Given the description of an element on the screen output the (x, y) to click on. 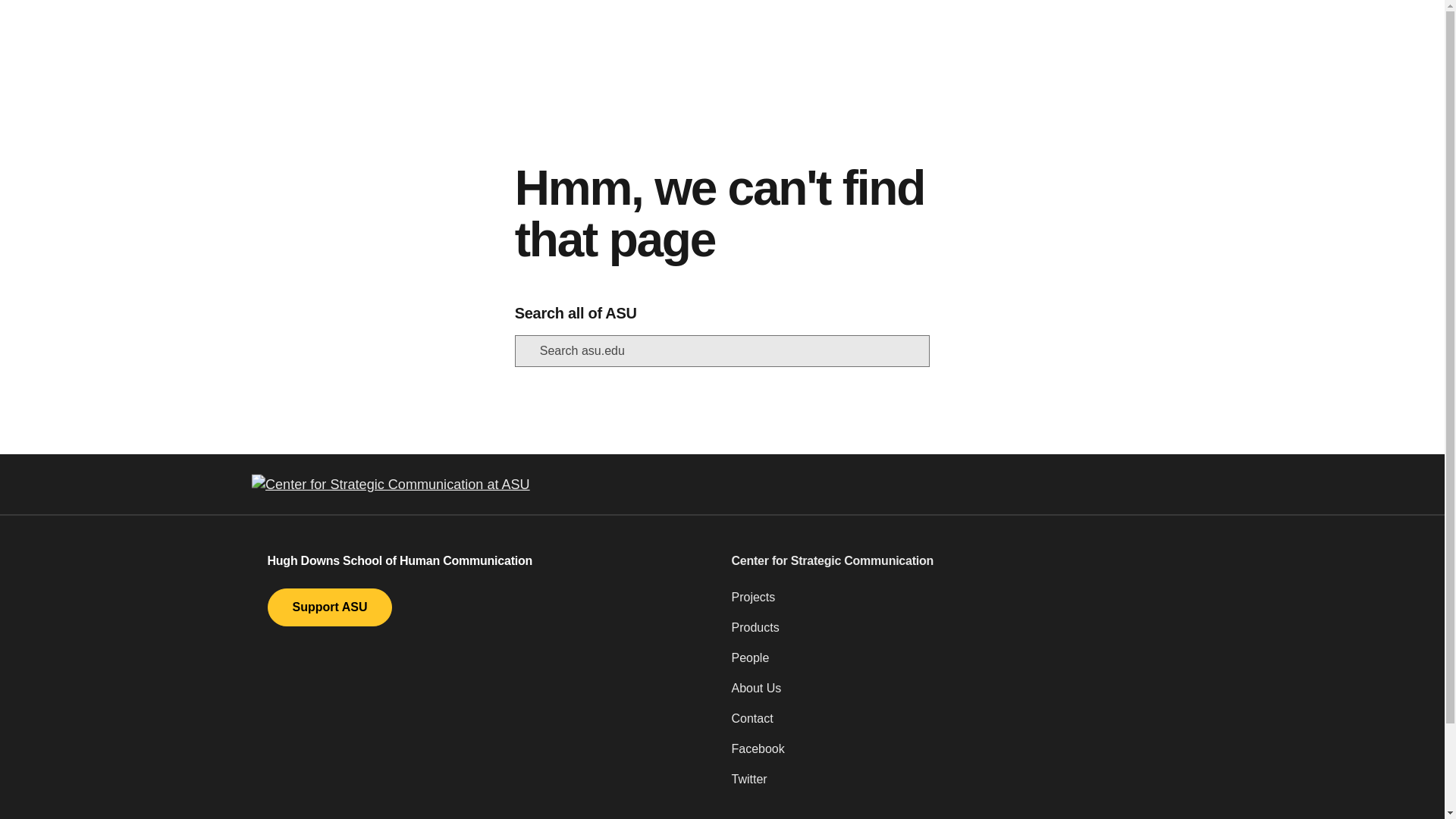
Facebook (953, 755)
Center for Strategic Communication (953, 561)
Twitter (953, 785)
About Us (953, 694)
People (953, 664)
Contact (953, 725)
Products (953, 634)
Support ASU (328, 607)
Projects (953, 603)
